Given the description of an element on the screen output the (x, y) to click on. 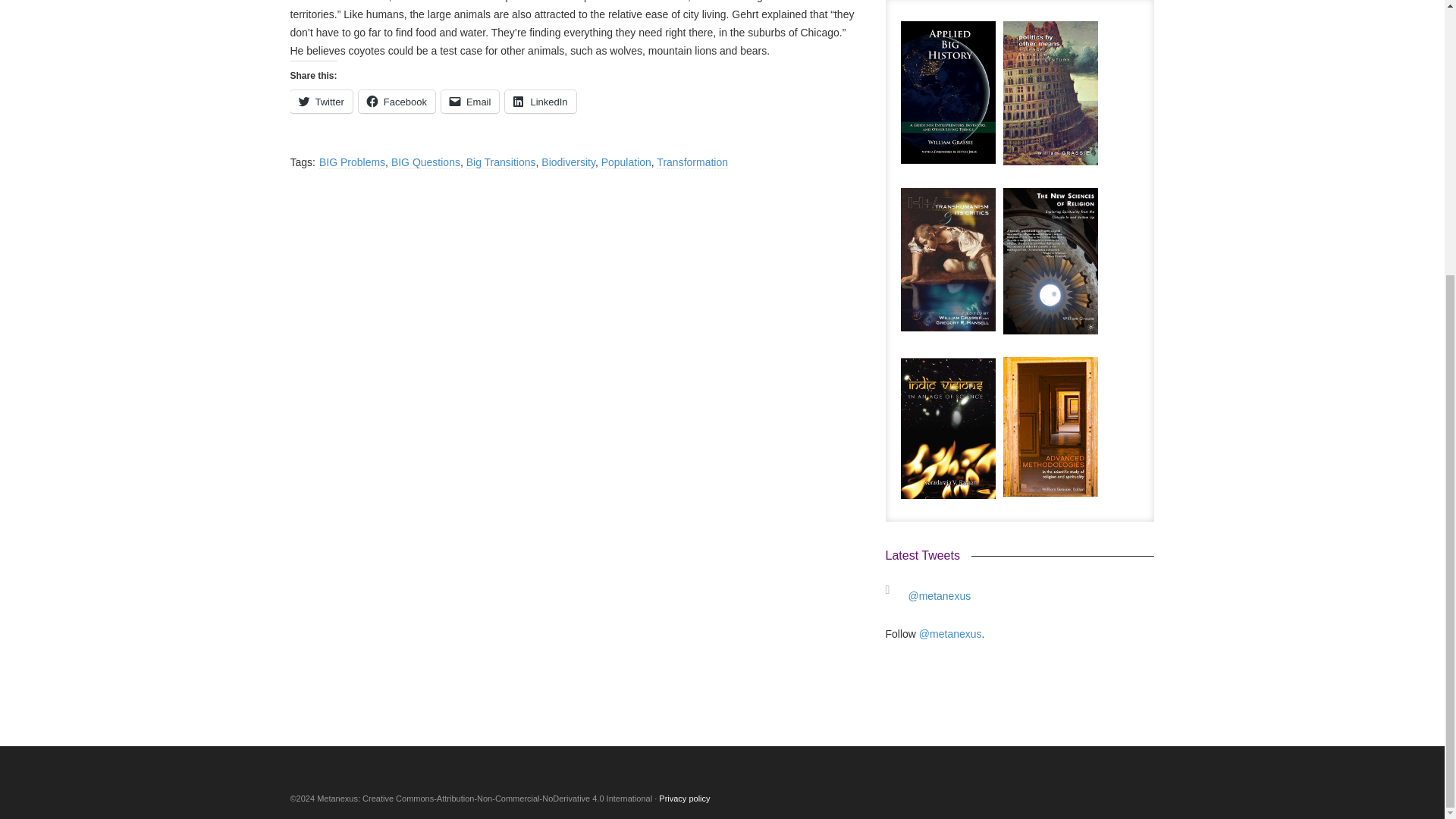
Big Transitions (500, 162)
Click to share on Facebook (396, 101)
Click to email a link to a friend (470, 101)
Transformation (692, 162)
Click to share on LinkedIn (540, 101)
Privacy policy and GDPR compliance (684, 798)
Email (470, 101)
Click to share on Twitter (320, 101)
Biodiversity (568, 162)
LinkedIn (540, 101)
Twitter (320, 101)
Facebook (396, 101)
BIG Questions (425, 162)
Population (625, 162)
BIG Problems (351, 162)
